Given the description of an element on the screen output the (x, y) to click on. 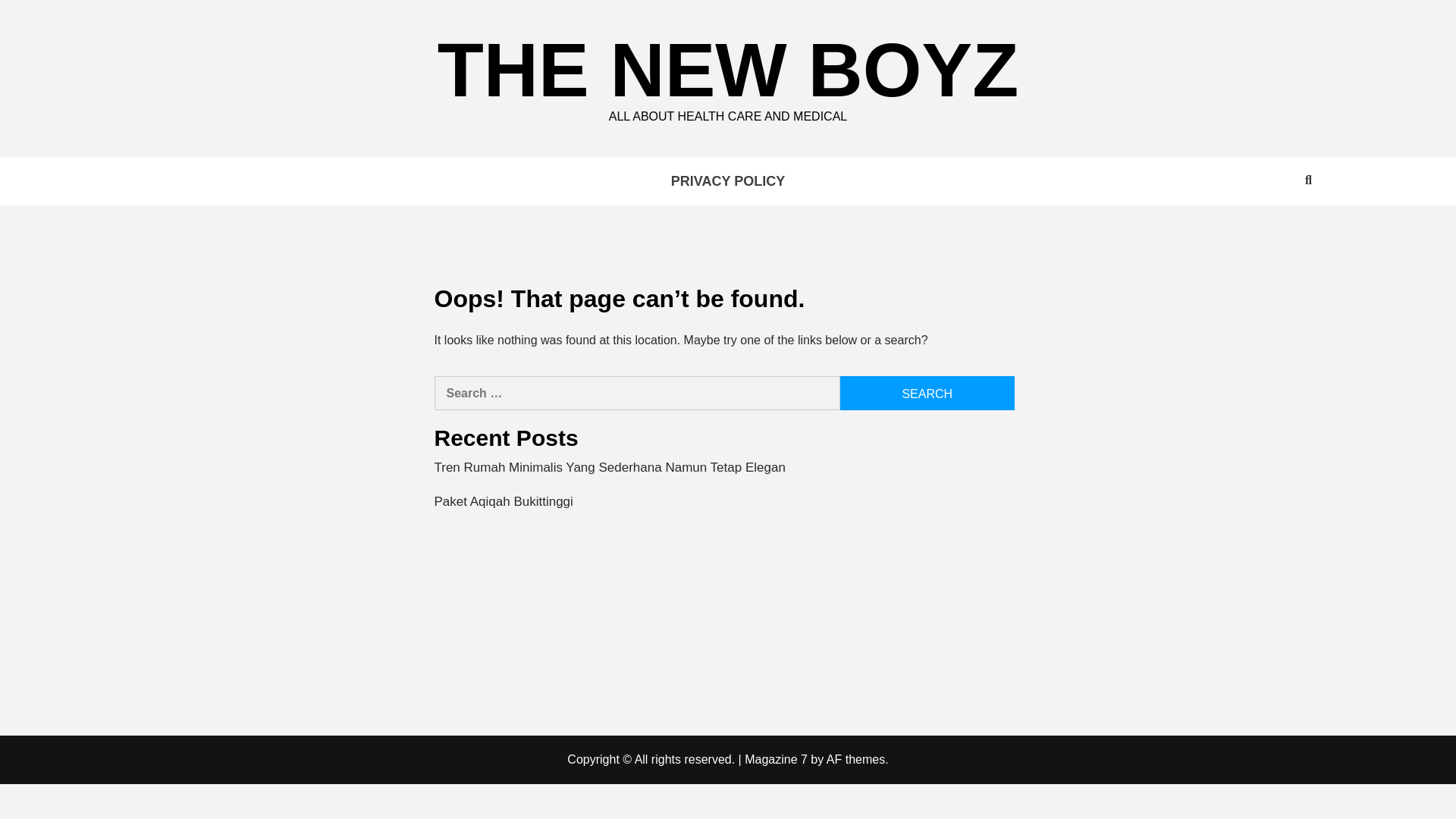
Search (927, 392)
Tren Rumah Minimalis Yang Sederhana Namun Tetap Elegan (723, 471)
Magazine 7 (776, 758)
Search (927, 392)
Search (927, 392)
Paket Aqiqah Bukittinggi (723, 505)
THE NEW BOYZ (728, 69)
PRIVACY POLICY (727, 181)
